Given the description of an element on the screen output the (x, y) to click on. 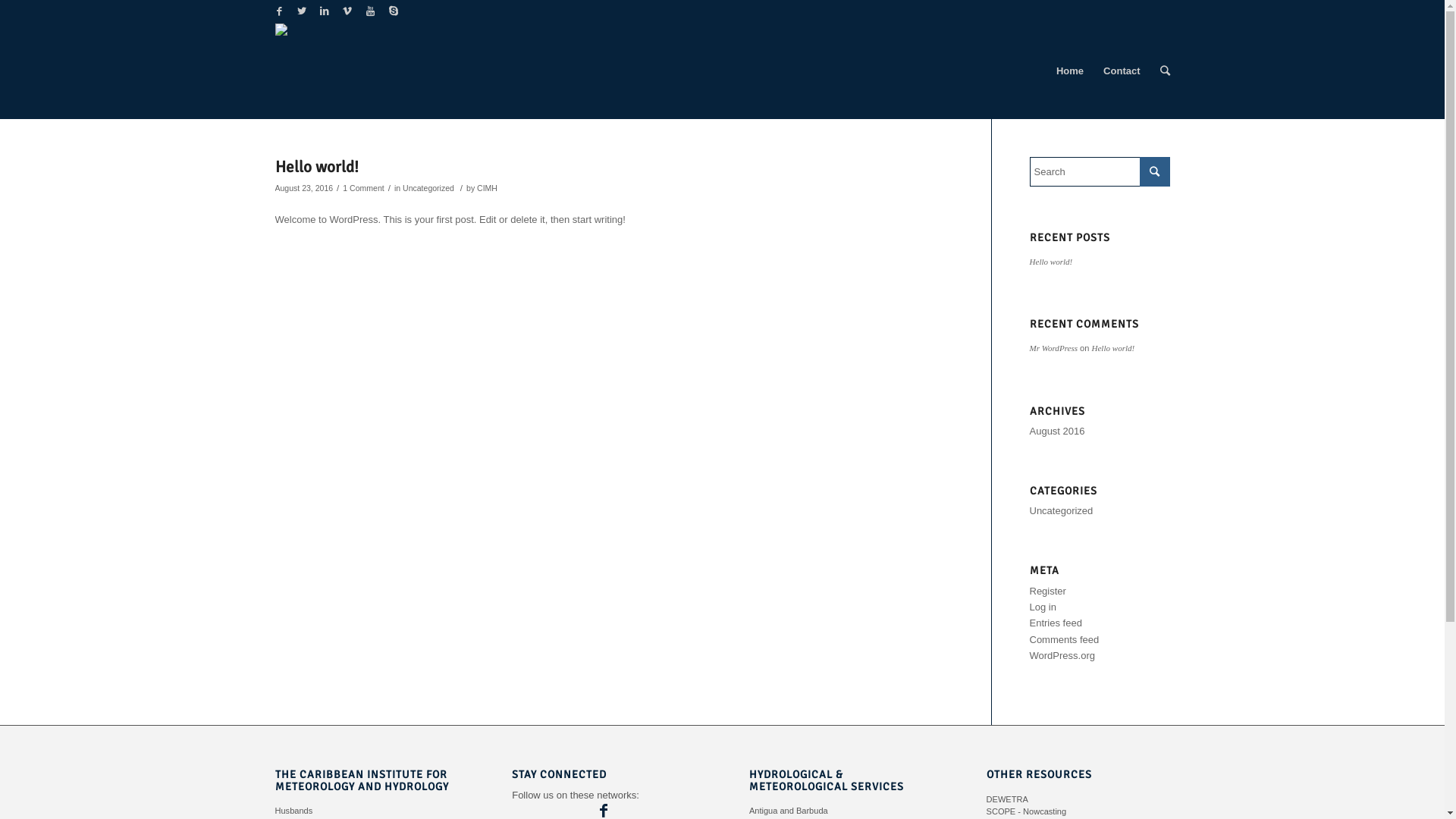
Antigua and Barbuda Element type: text (788, 810)
Youtube Element type: hover (370, 11)
Uncategorized Element type: text (1061, 510)
Register Element type: text (1047, 590)
Twitter Element type: hover (302, 11)
CIMH Element type: text (486, 187)
Entries feed Element type: text (1055, 622)
Linkedin Element type: hover (324, 11)
DEWETRA Element type: text (1007, 798)
Hello world! Element type: text (1051, 261)
Comments feed Element type: text (1064, 639)
WordPress.org Element type: text (1062, 655)
Uncategorized Element type: text (428, 187)
SCOPE - Nowcasting Element type: text (1026, 810)
Log in Element type: text (1042, 606)
Hello world! Element type: text (1112, 347)
Skype Element type: hover (393, 11)
August 2016 Element type: text (1057, 430)
Vimeo Element type: hover (347, 11)
Home Element type: text (1069, 70)
Facebook Element type: hover (279, 11)
1 Comment Element type: text (362, 187)
Mr WordPress Element type: text (1053, 347)
Contact Element type: text (1121, 70)
Hello world! Element type: text (315, 166)
